Given the description of an element on the screen output the (x, y) to click on. 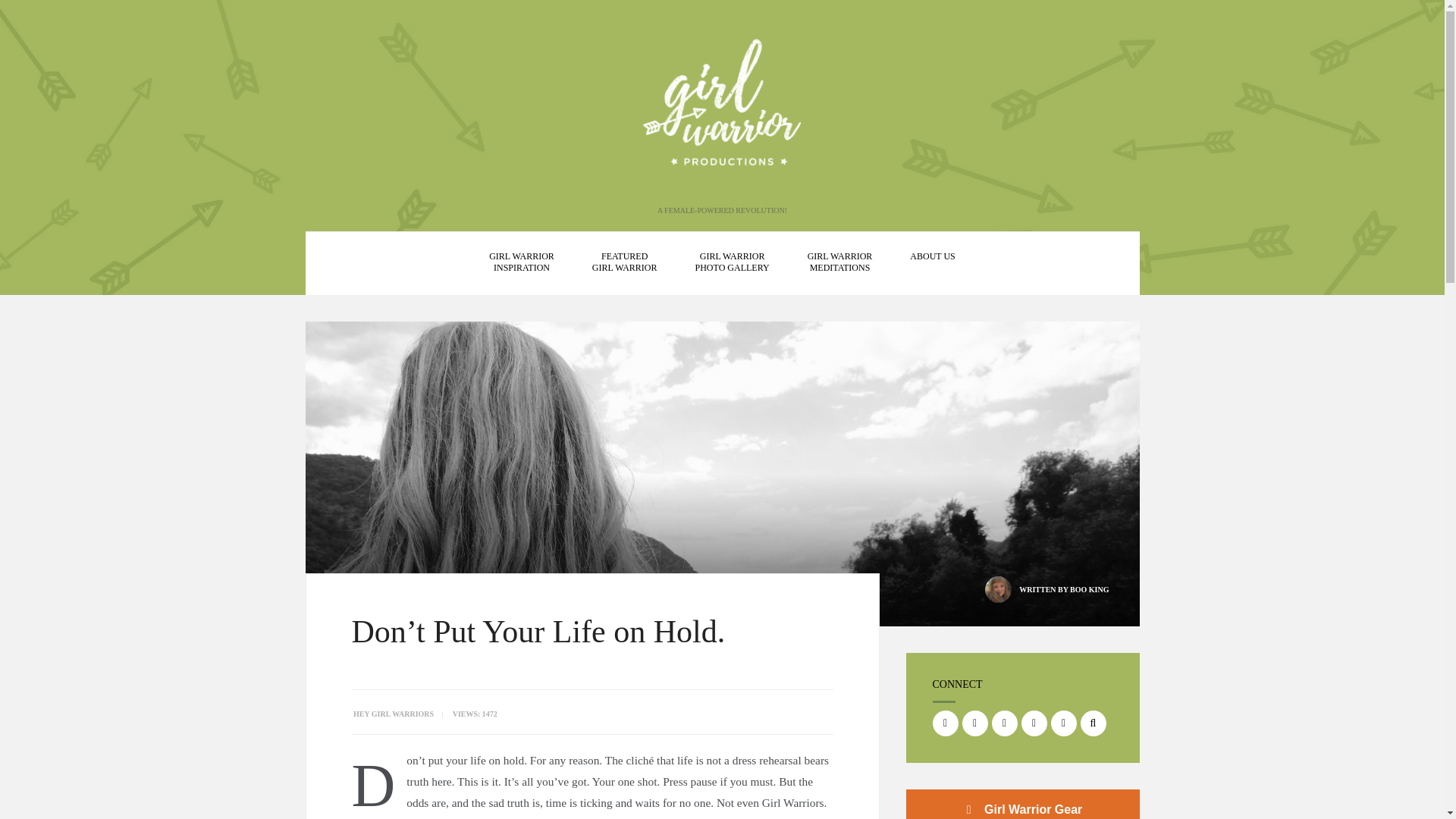
Girl Warrior Photo Gallery (732, 262)
ABOUT US (732, 262)
BOO KING (932, 256)
Featured Girl Warrior profiles (625, 262)
HEY GIRL WARRIORS (840, 262)
Posts by Boo King (1089, 589)
Girl Warrior Meditations (625, 262)
